Given the description of an element on the screen output the (x, y) to click on. 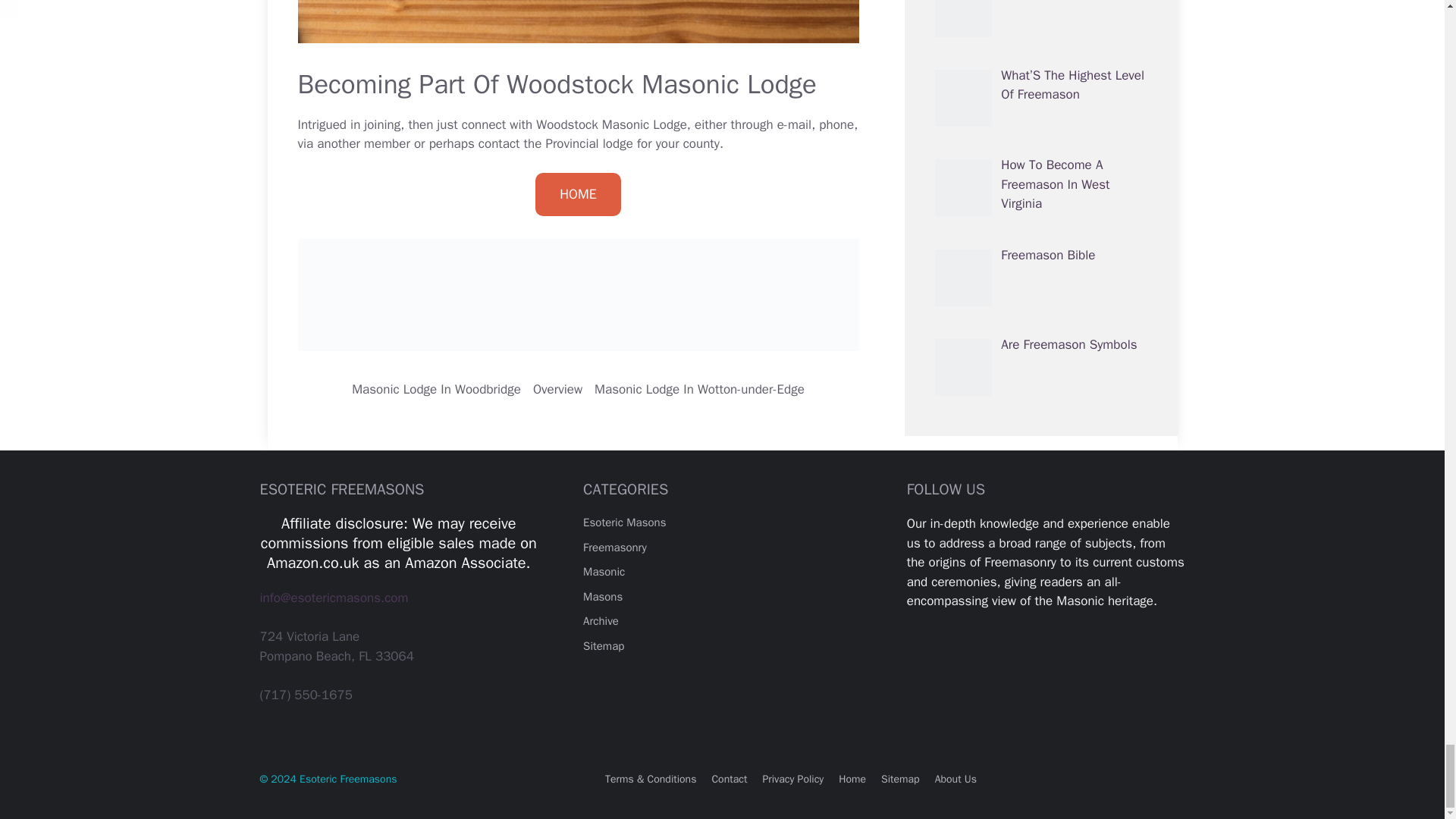
Overview (557, 389)
Masonic Lodge In Wotton-under-Edge (699, 389)
Masonic Lodge In Woodbridge (436, 389)
HOME (578, 194)
